Given the description of an element on the screen output the (x, y) to click on. 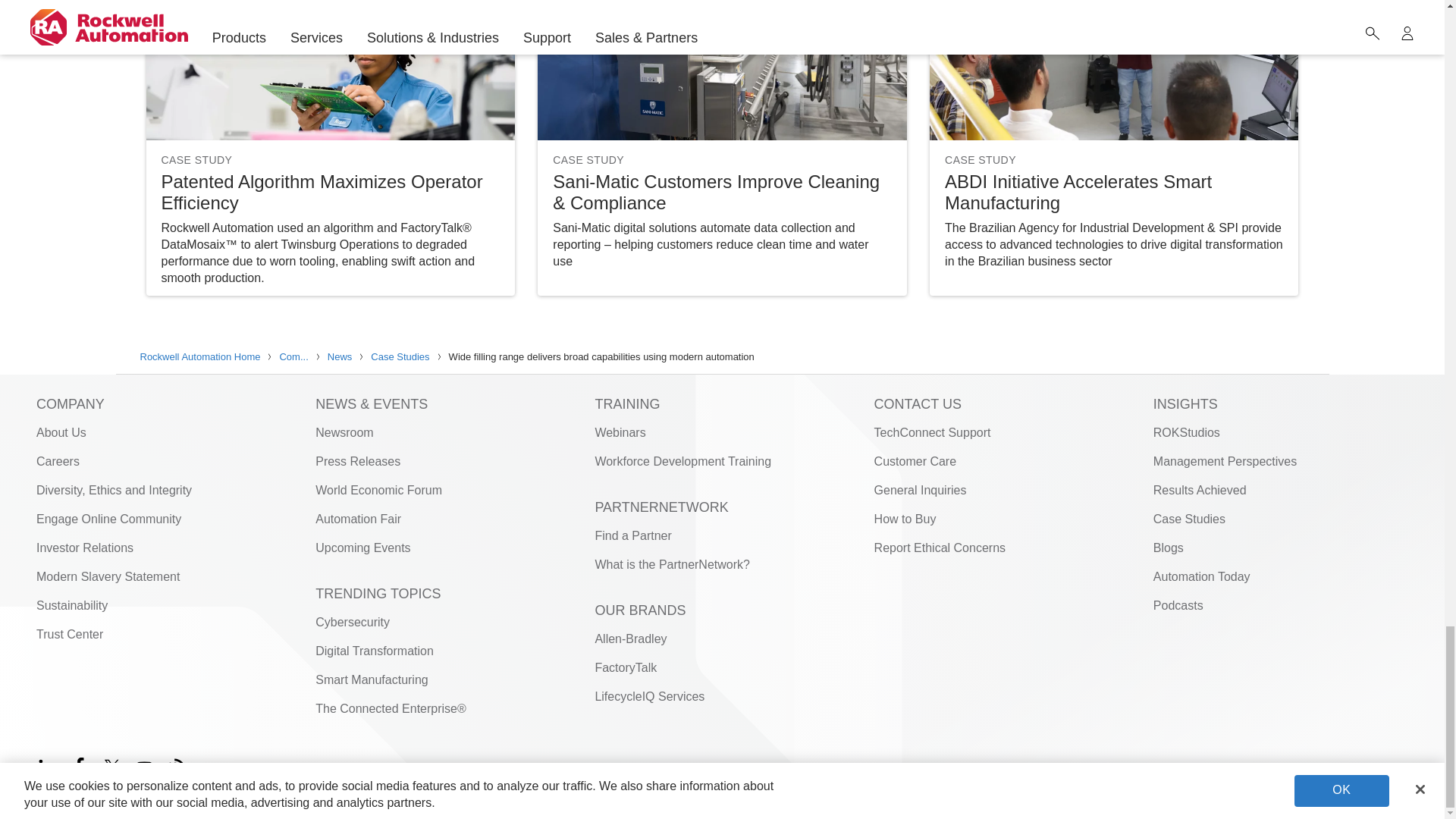
Rockwell Automation Home (1319, 799)
